Given the description of an element on the screen output the (x, y) to click on. 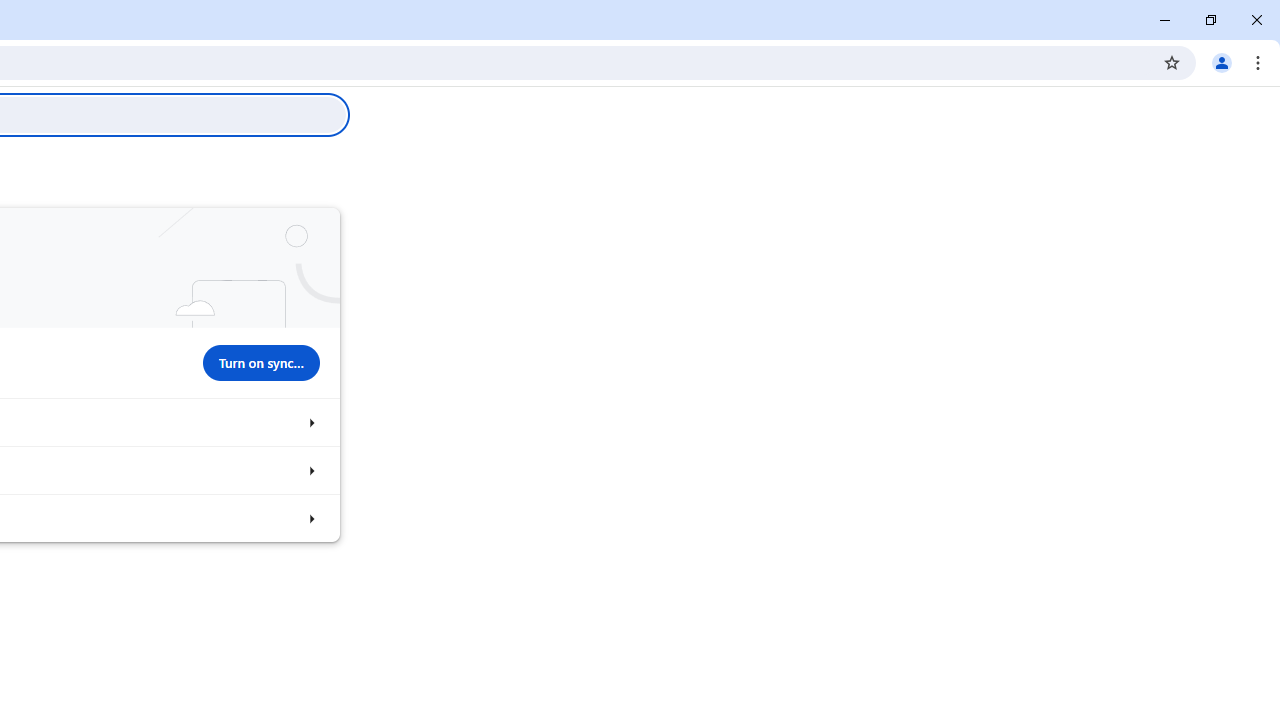
Customize your Chrome profile (310, 470)
Import bookmarks and settings (310, 517)
Sync and Google services (310, 422)
